Given the description of an element on the screen output the (x, y) to click on. 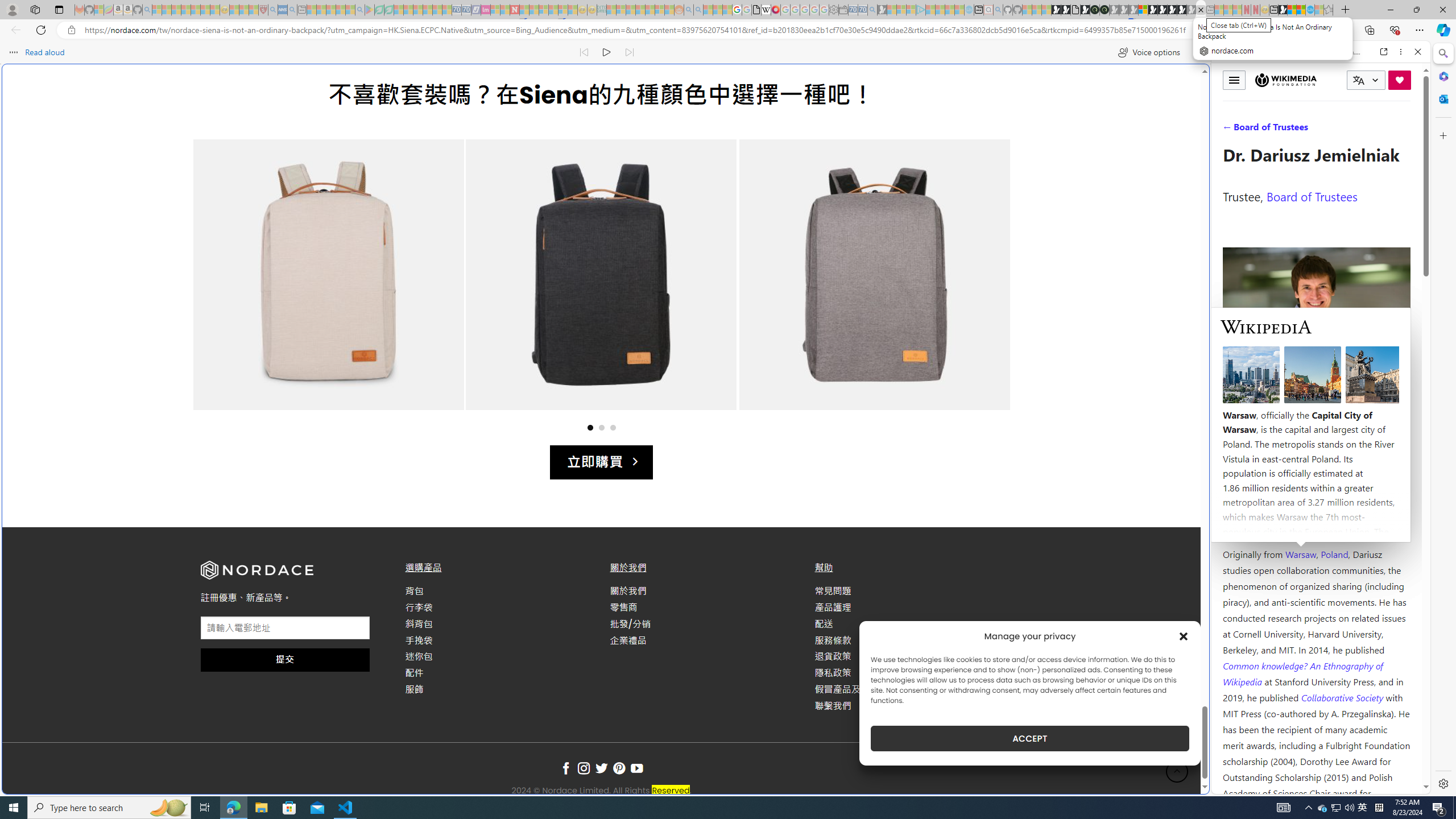
Go to top (1177, 771)
AutomationID: input_4_1 (284, 627)
Board of Trustees (1311, 195)
Continue to read aloud (Ctrl+Shift+U) (606, 52)
